Given the description of an element on the screen output the (x, y) to click on. 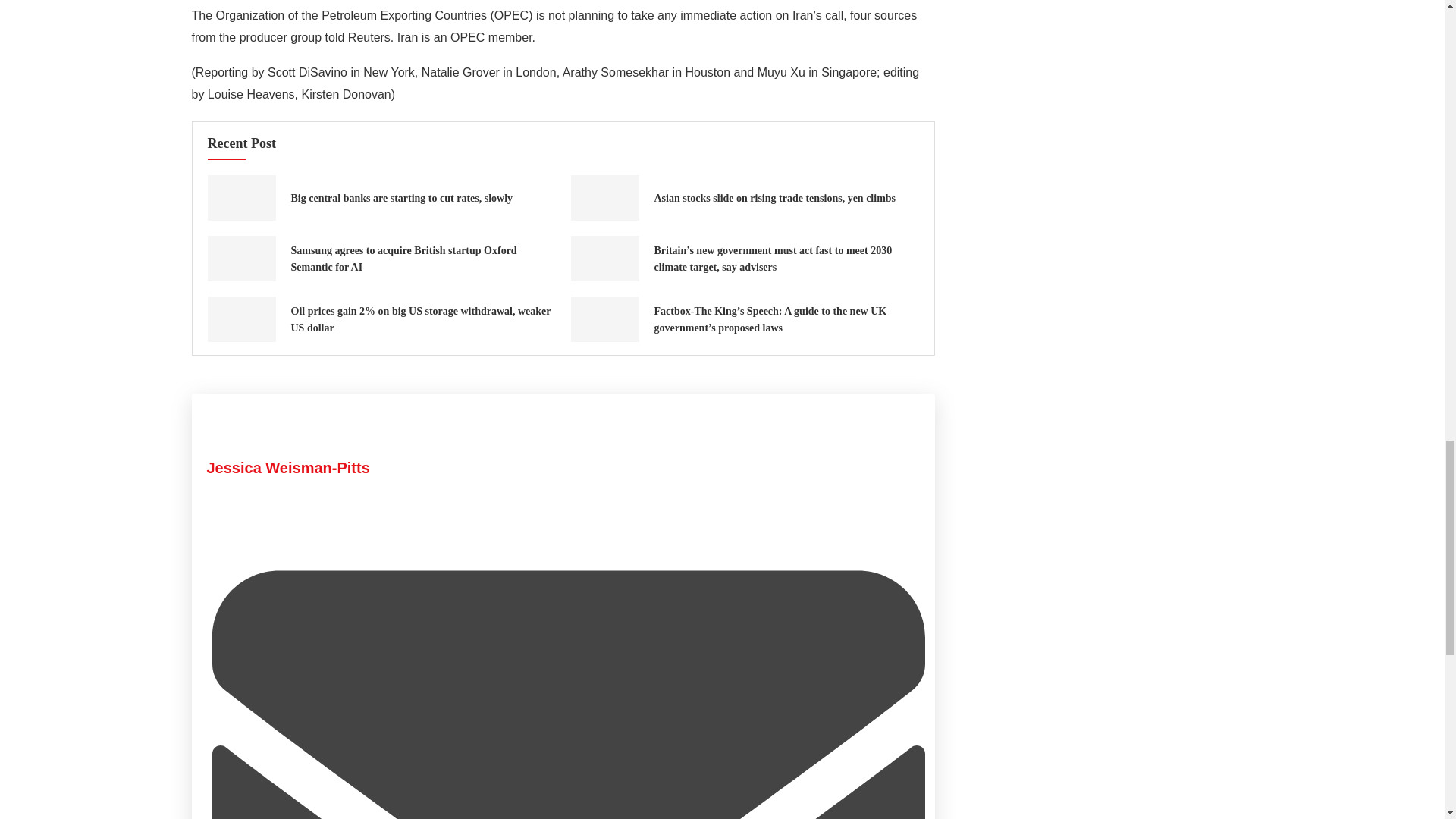
Jessica Weisman-Pitts (287, 467)
Asian stocks slide on rising trade tensions, yen climbs (604, 197)
Big central banks are starting to cut rates, slowly (402, 197)
Asian stocks slide on rising trade tensions, yen climbs (774, 197)
Big central banks are starting to cut rates, slowly (242, 197)
